Given the description of an element on the screen output the (x, y) to click on. 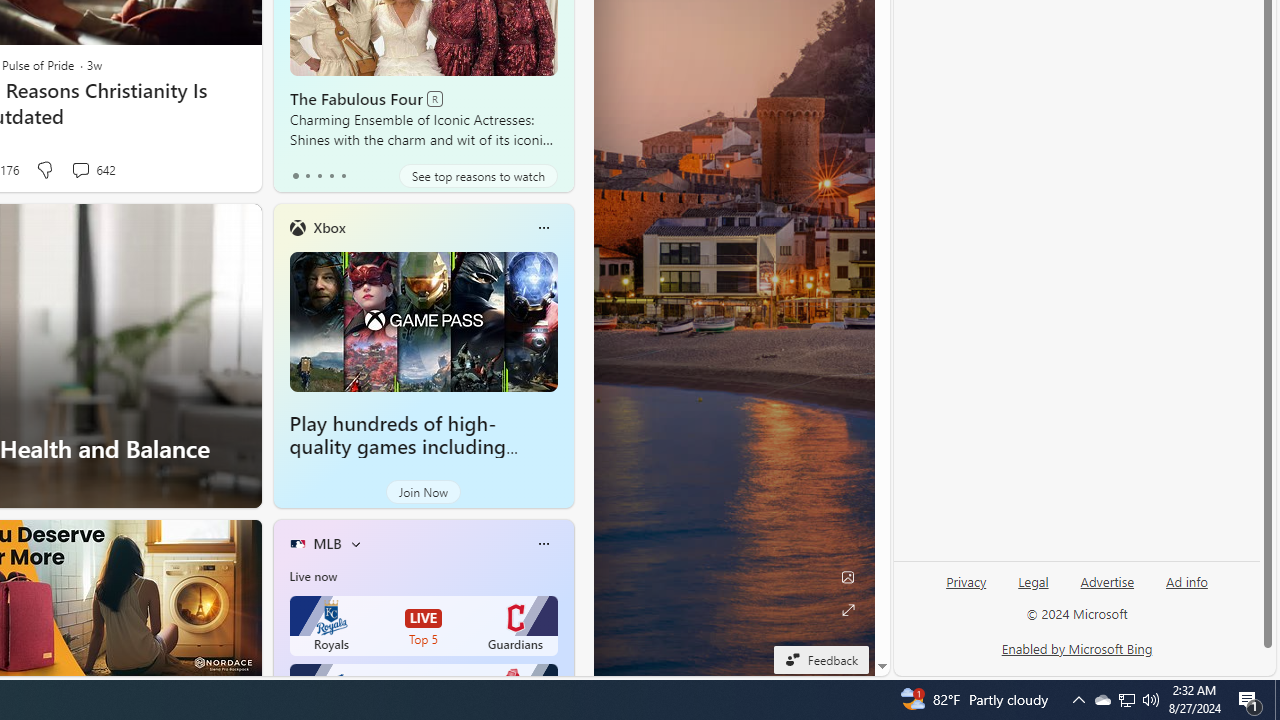
tab-2 (319, 175)
tab-1 (306, 175)
See top reasons to watch (478, 175)
Expand background (847, 610)
View comments 642 Comment (92, 170)
tab-0 (295, 175)
Join Now (423, 491)
tab-4 (342, 175)
Xbox (329, 227)
MLB (327, 543)
